Given the description of an element on the screen output the (x, y) to click on. 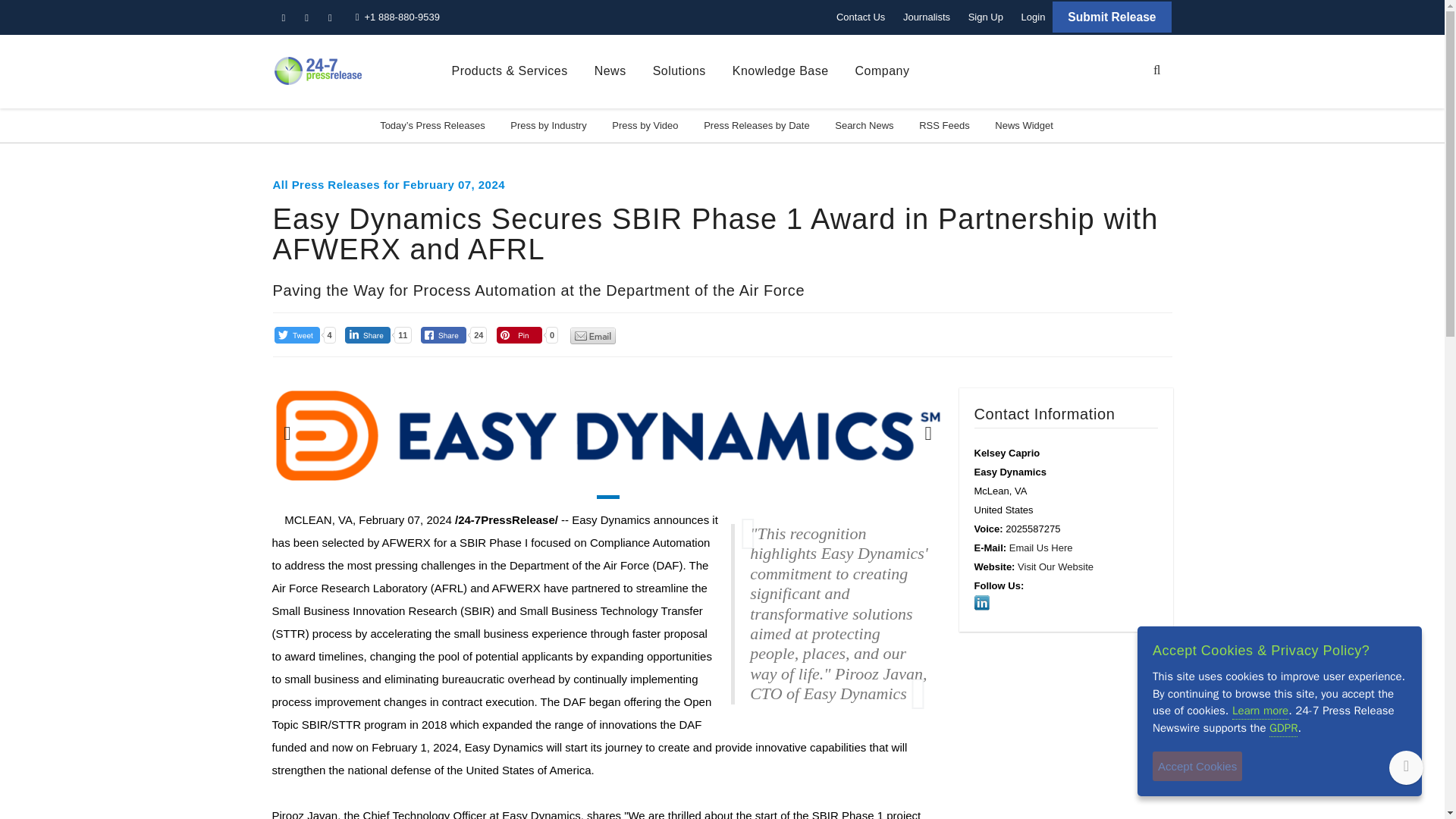
Sign Up (985, 16)
Journalists (926, 16)
Solutions (679, 71)
Submit Release (1111, 16)
Contact Us (860, 16)
Company (882, 71)
Login (1032, 16)
Knowledge Base (780, 71)
